Given the description of an element on the screen output the (x, y) to click on. 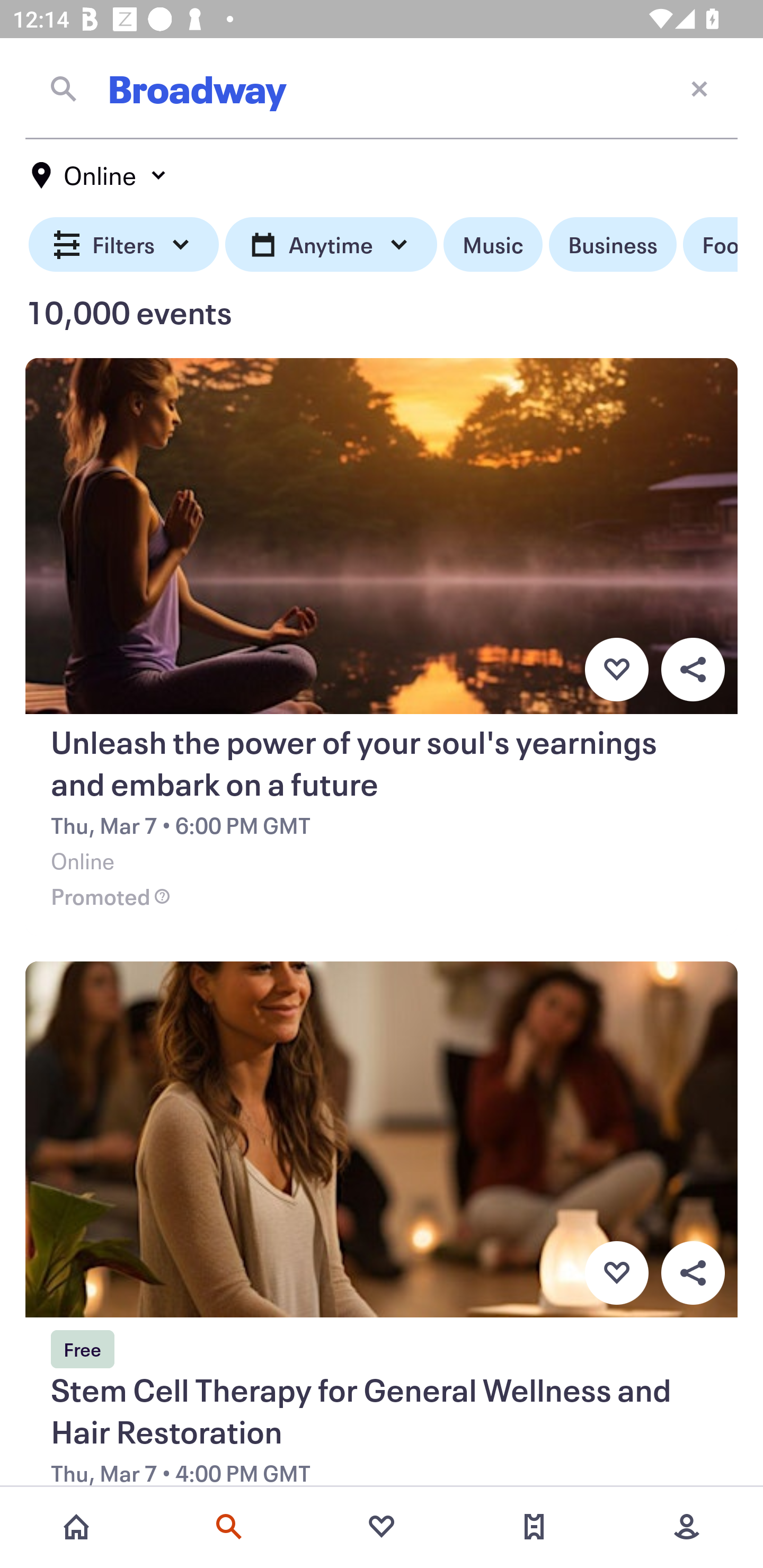
Broadway Close current screen (381, 88)
Close current screen (699, 88)
Online (99, 175)
Filters (123, 244)
Anytime (331, 244)
Music (492, 244)
Business (612, 244)
Favorite button (616, 669)
Overflow menu button (692, 669)
Favorite button (616, 1272)
Overflow menu button (692, 1272)
Home (76, 1526)
Search events (228, 1526)
Favorites (381, 1526)
Tickets (533, 1526)
More (686, 1526)
